Given the description of an element on the screen output the (x, y) to click on. 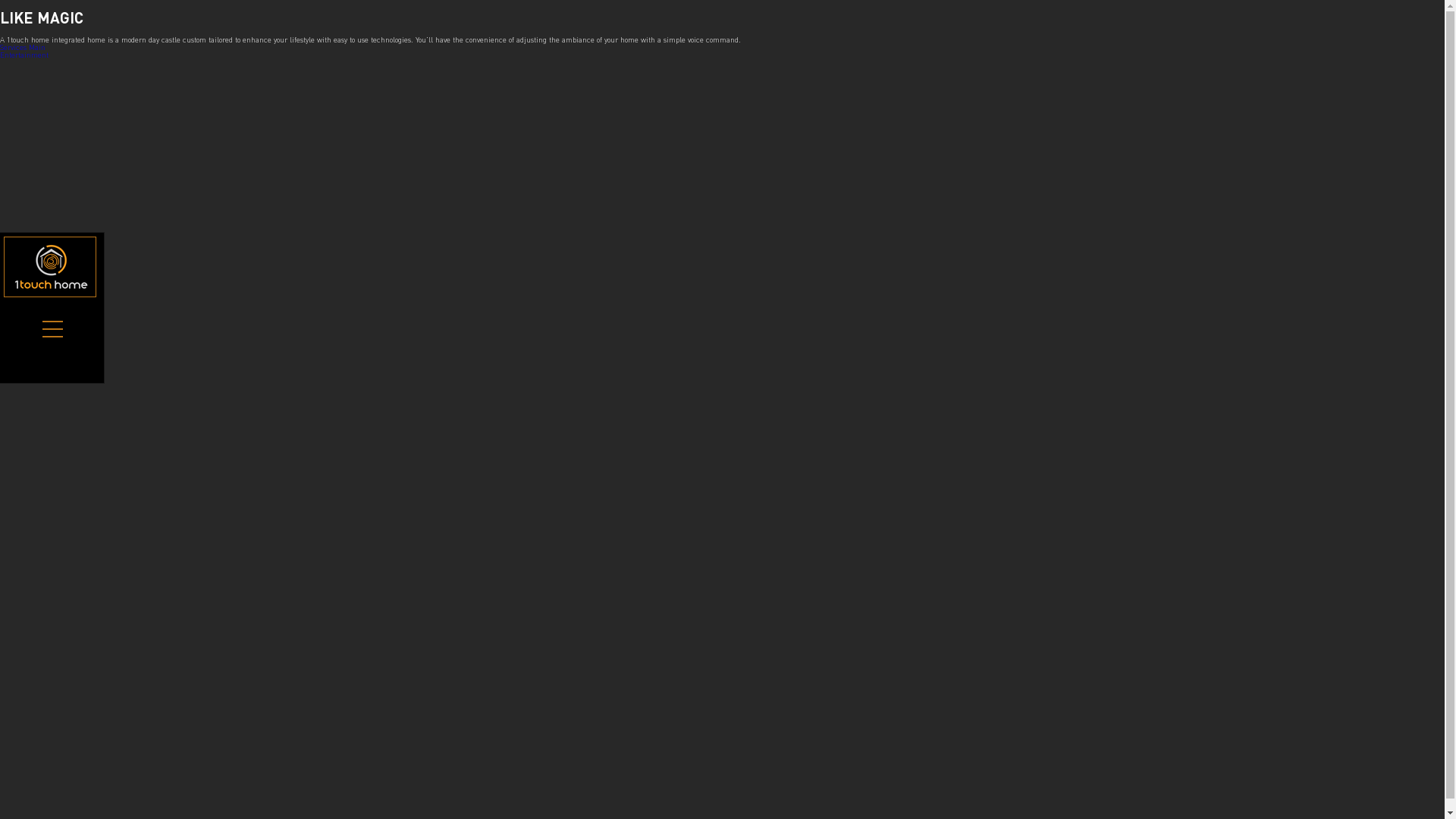
Entertainment Element type: text (24, 54)
Services Main Element type: text (22, 46)
